Given the description of an element on the screen output the (x, y) to click on. 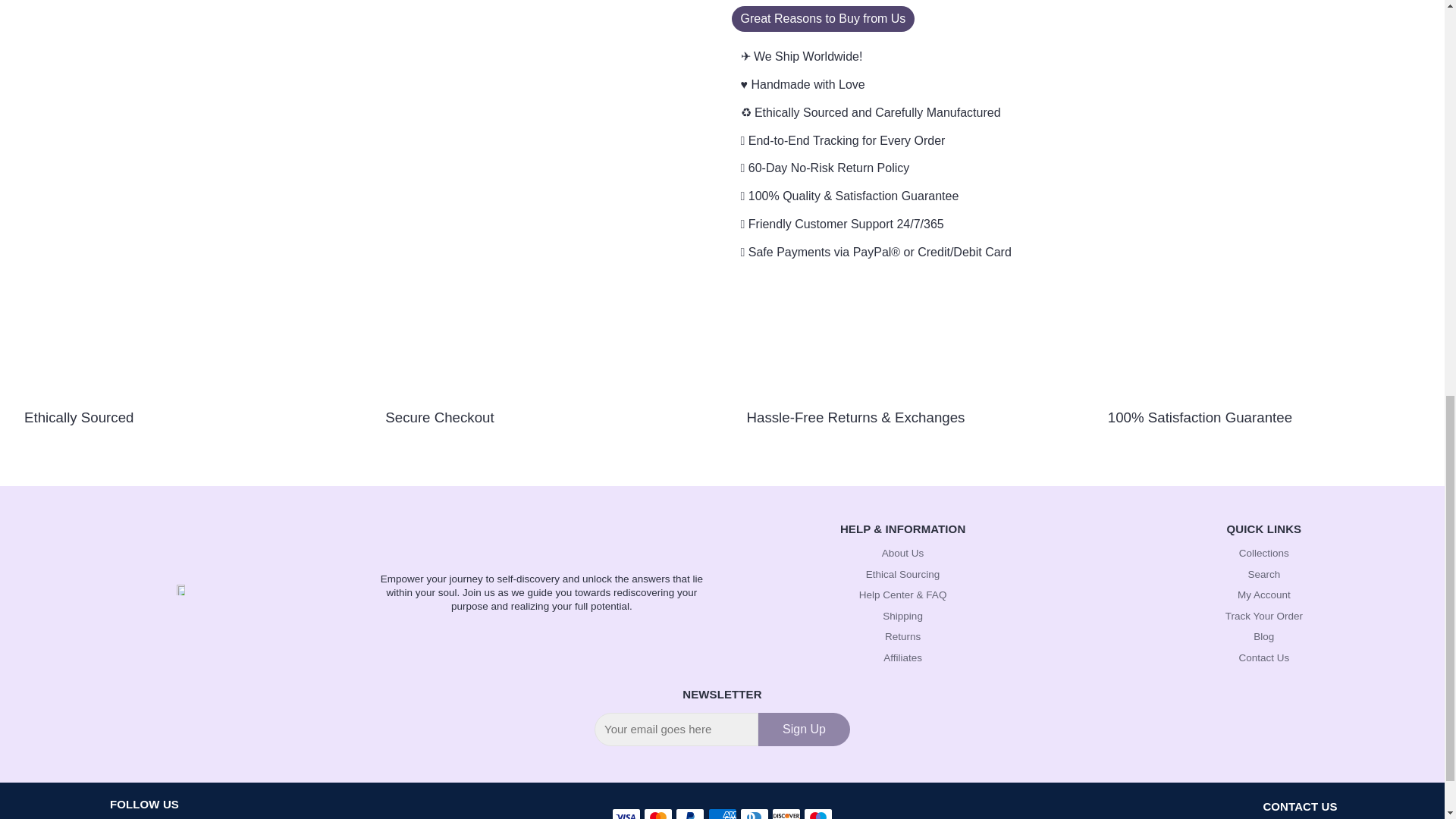
American Express (721, 813)
Diners Club (753, 813)
Discover (785, 813)
Visa (625, 813)
PayPal (689, 813)
Mastercard (657, 813)
Maestro (817, 813)
